Given the description of an element on the screen output the (x, y) to click on. 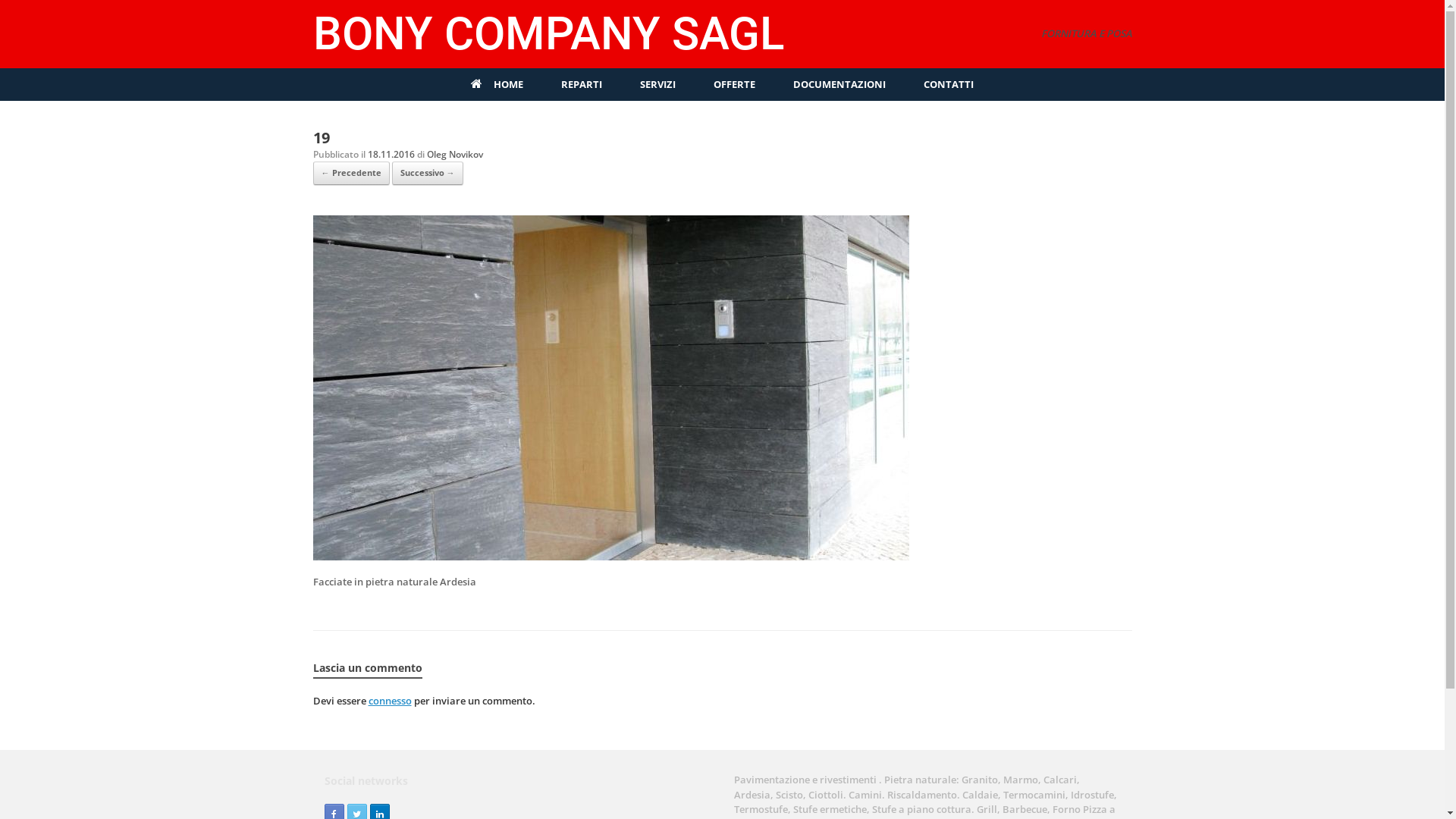
19 Element type: hover (610, 555)
HOME Element type: text (496, 84)
SERVIZI Element type: text (657, 84)
REPARTI Element type: text (581, 84)
connesso Element type: text (389, 700)
18.11.2016 Element type: text (390, 153)
CONTATTI Element type: text (948, 84)
OFFERTE Element type: text (734, 84)
DOCUMENTAZIONI Element type: text (839, 84)
BONY COMPANY SAGL Element type: text (547, 33)
Oleg Novikov Element type: text (454, 153)
